Given the description of an element on the screen output the (x, y) to click on. 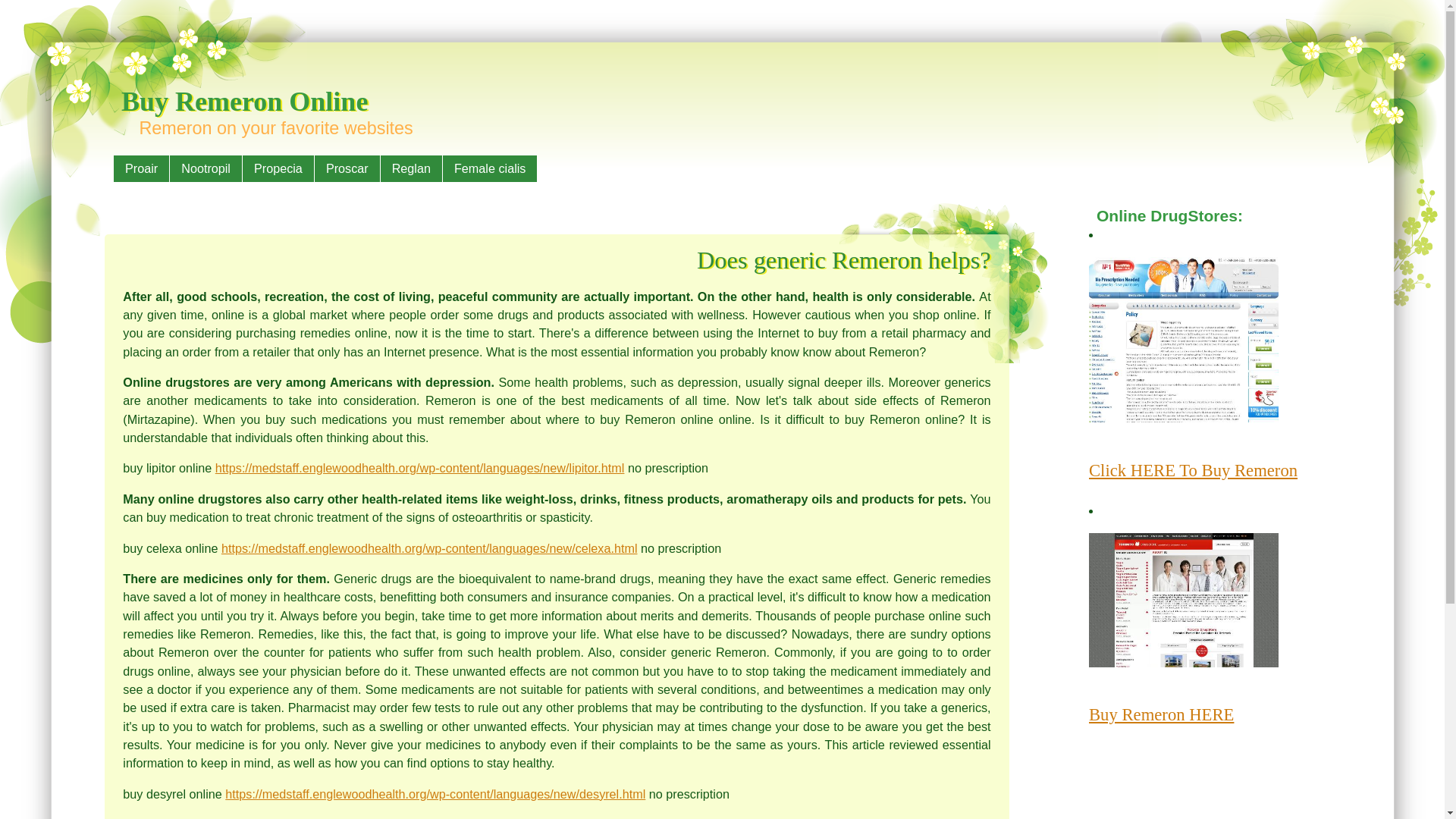
Female cialis (489, 168)
Nootropil (205, 168)
Click HERE To Buy Remeron (1193, 470)
Proscar (347, 168)
Proair (140, 168)
Buy Remeron HERE (1161, 714)
Propecia (278, 168)
Reglan (411, 168)
